Given the description of an element on the screen output the (x, y) to click on. 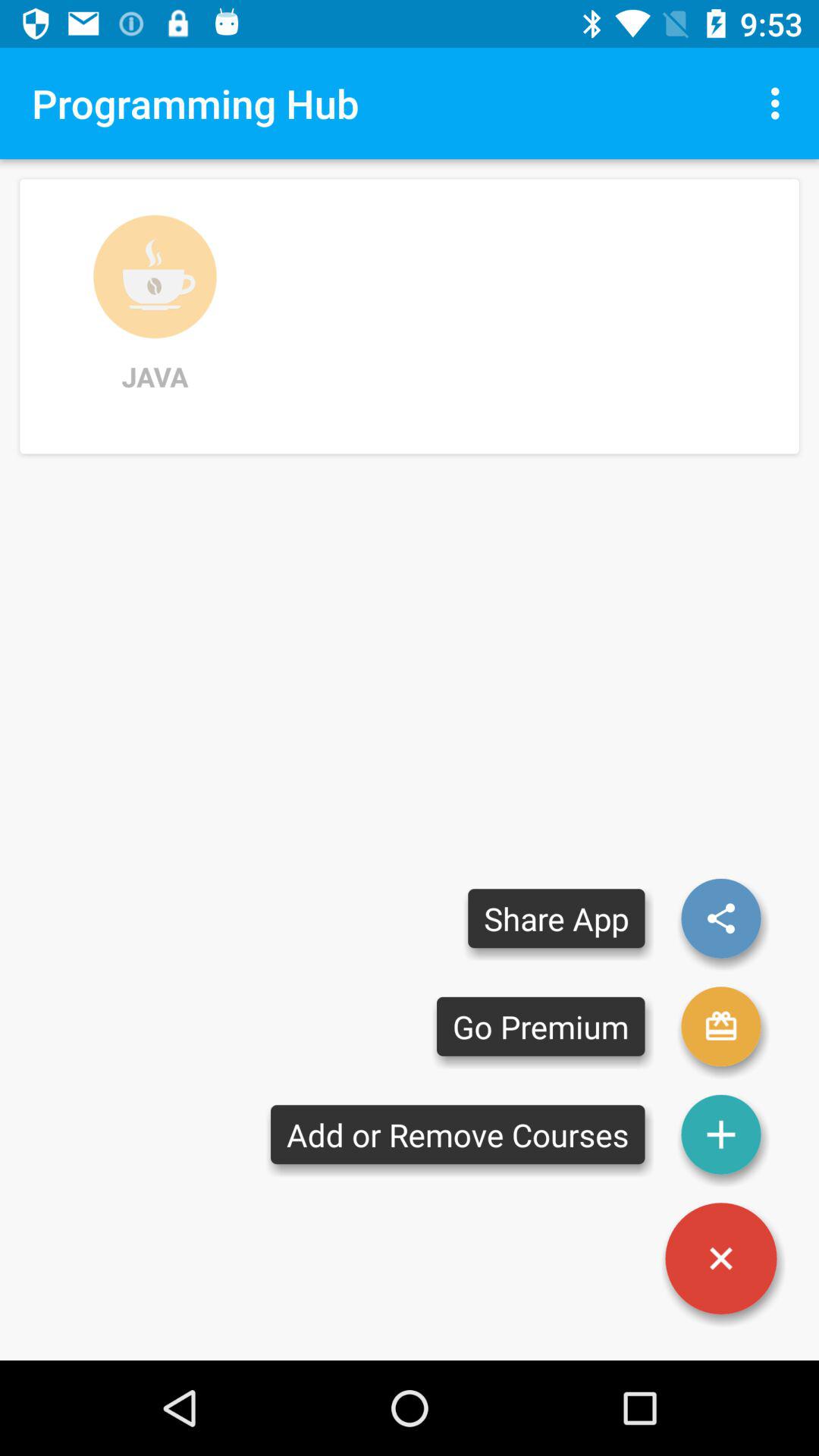
tap go premium item (540, 1026)
